Given the description of an element on the screen output the (x, y) to click on. 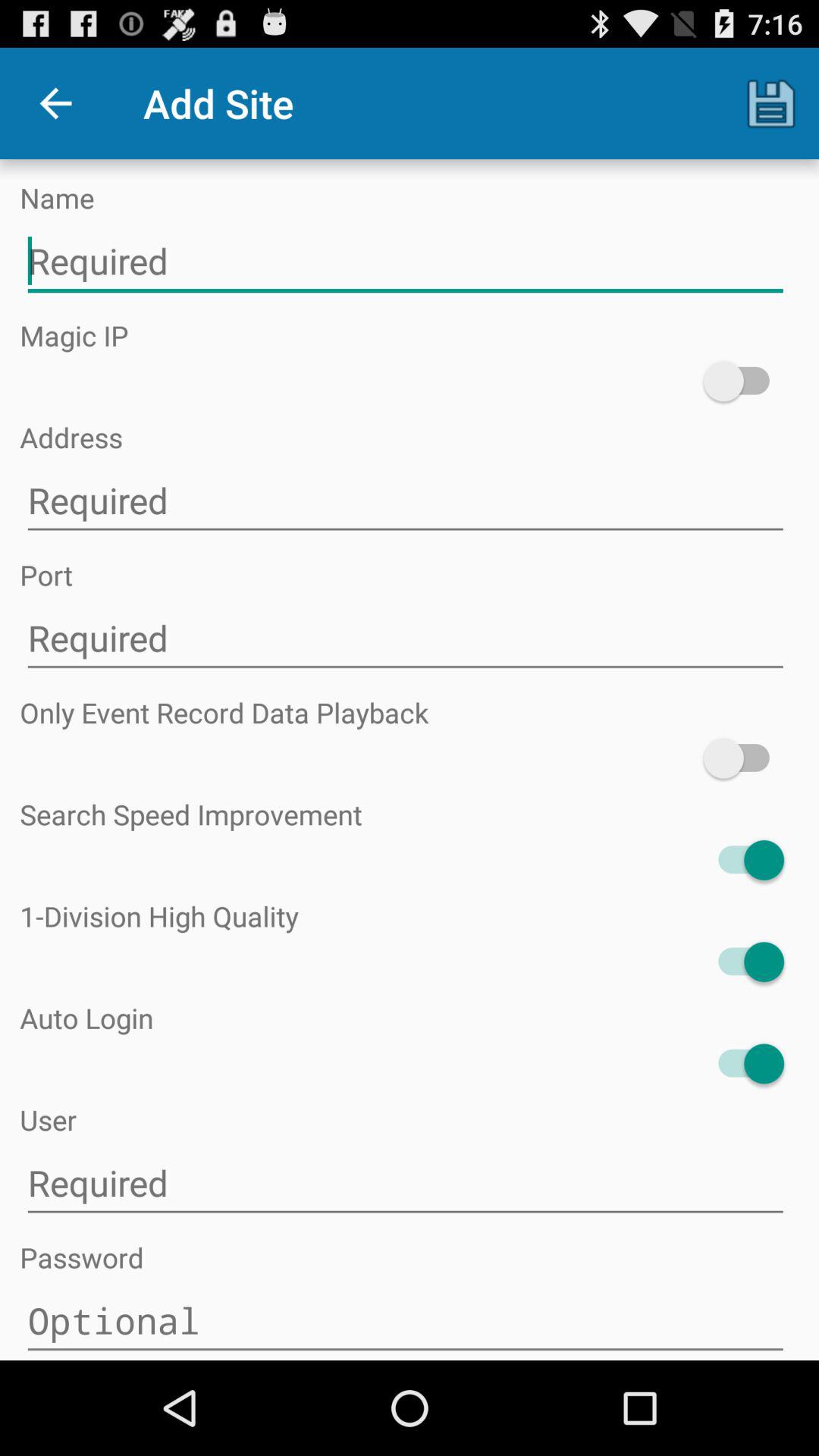
enter user name (405, 1183)
